Given the description of an element on the screen output the (x, y) to click on. 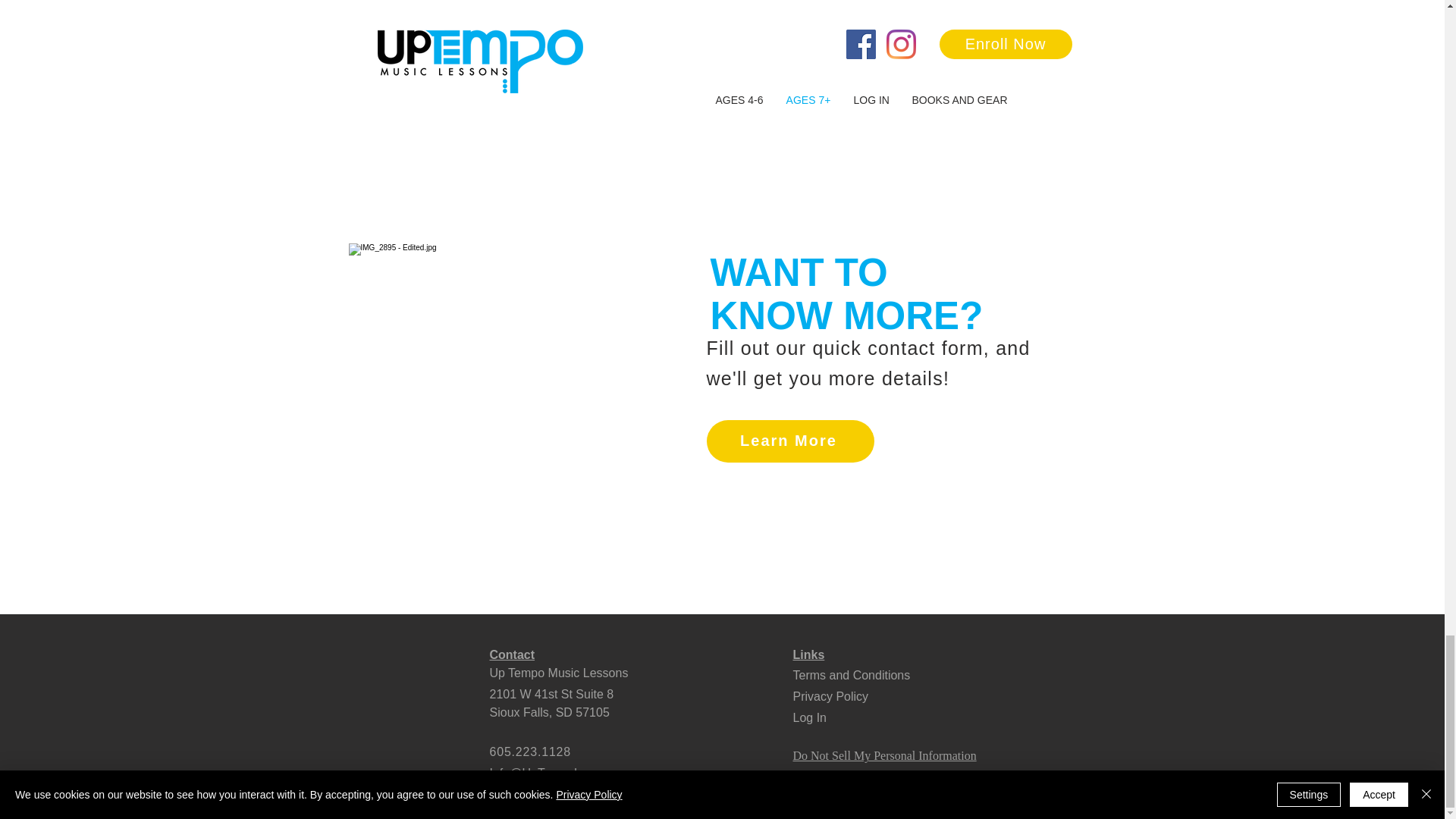
605.223.1128 (556, 752)
Terms and Conditions (855, 674)
Up Tempo Music Lessons (558, 672)
Do Not Sell My Personal Information (884, 755)
Log In (810, 717)
Learn More (790, 441)
Privacy Policy (831, 695)
Sioux Falls, SD 57105 (549, 712)
2101 W 41st St Suite 8 (551, 694)
